Given the description of an element on the screen output the (x, y) to click on. 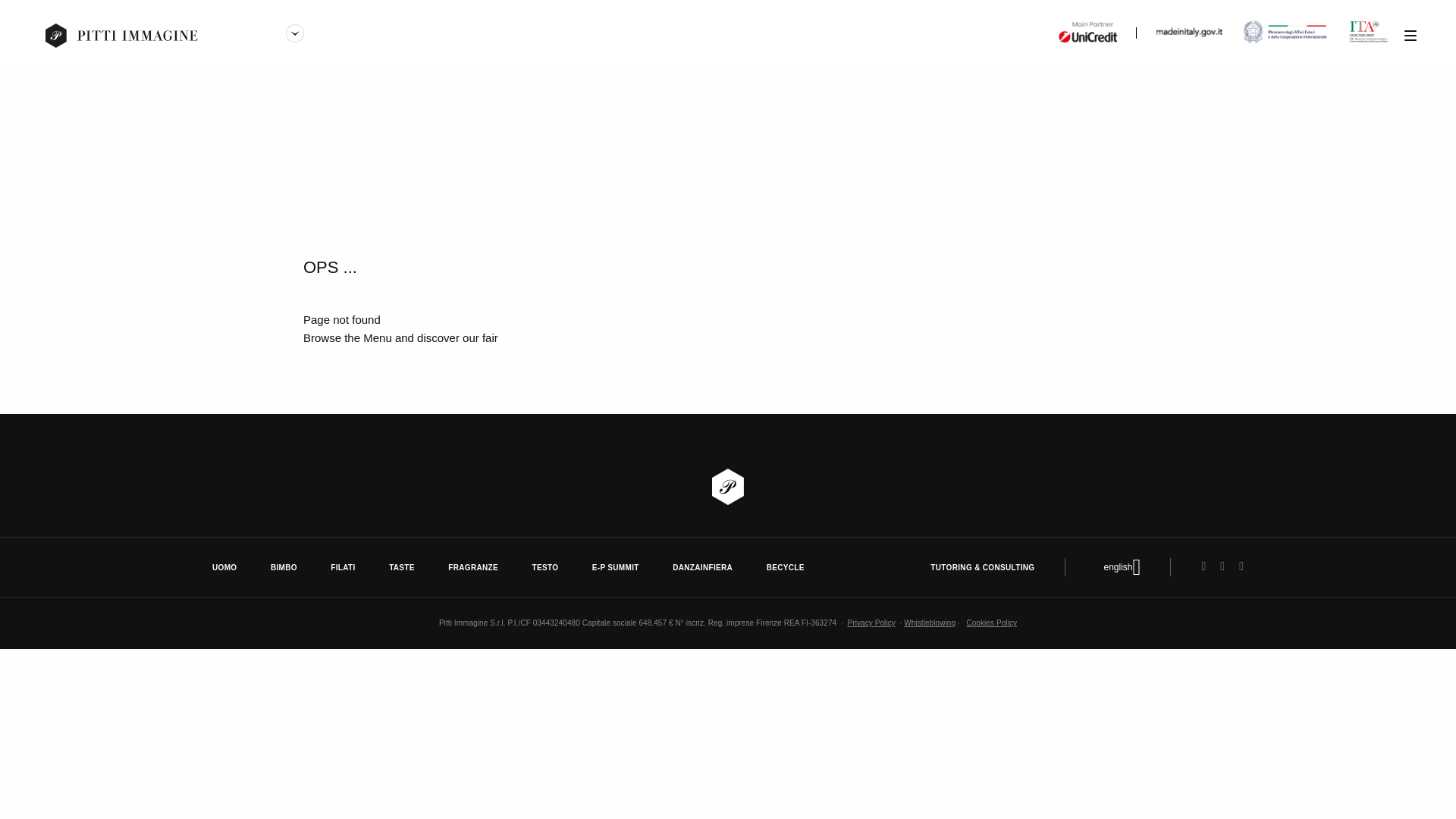
TASTE (401, 567)
BECYCLE (786, 567)
Whistleblowing (929, 623)
UOMO (223, 567)
TESTO (544, 567)
E-P SUMMIT (615, 567)
Group Created with Sketch. (294, 33)
Privacy Policy (871, 623)
Cookies Policy (991, 623)
BIMBO (283, 567)
